Given the description of an element on the screen output the (x, y) to click on. 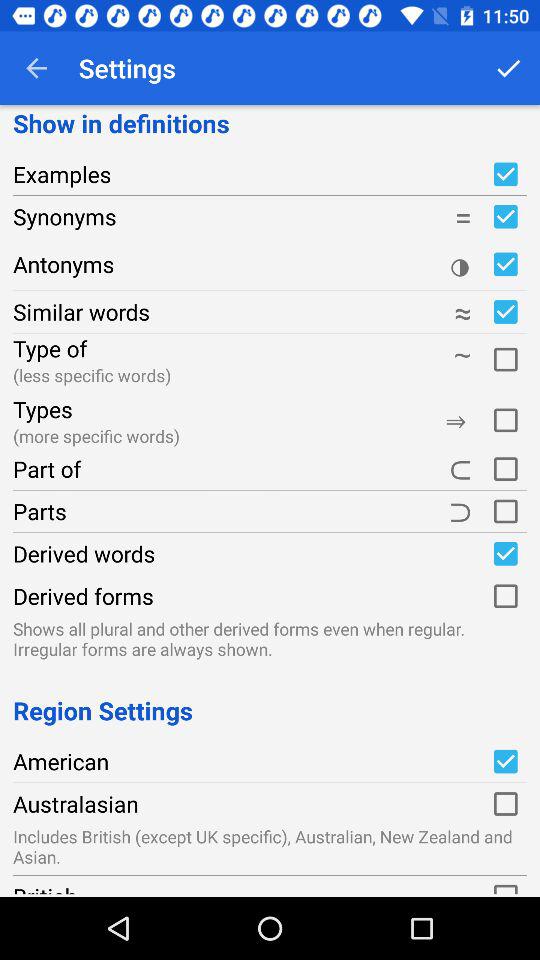
turn off examples (505, 174)
